Given the description of an element on the screen output the (x, y) to click on. 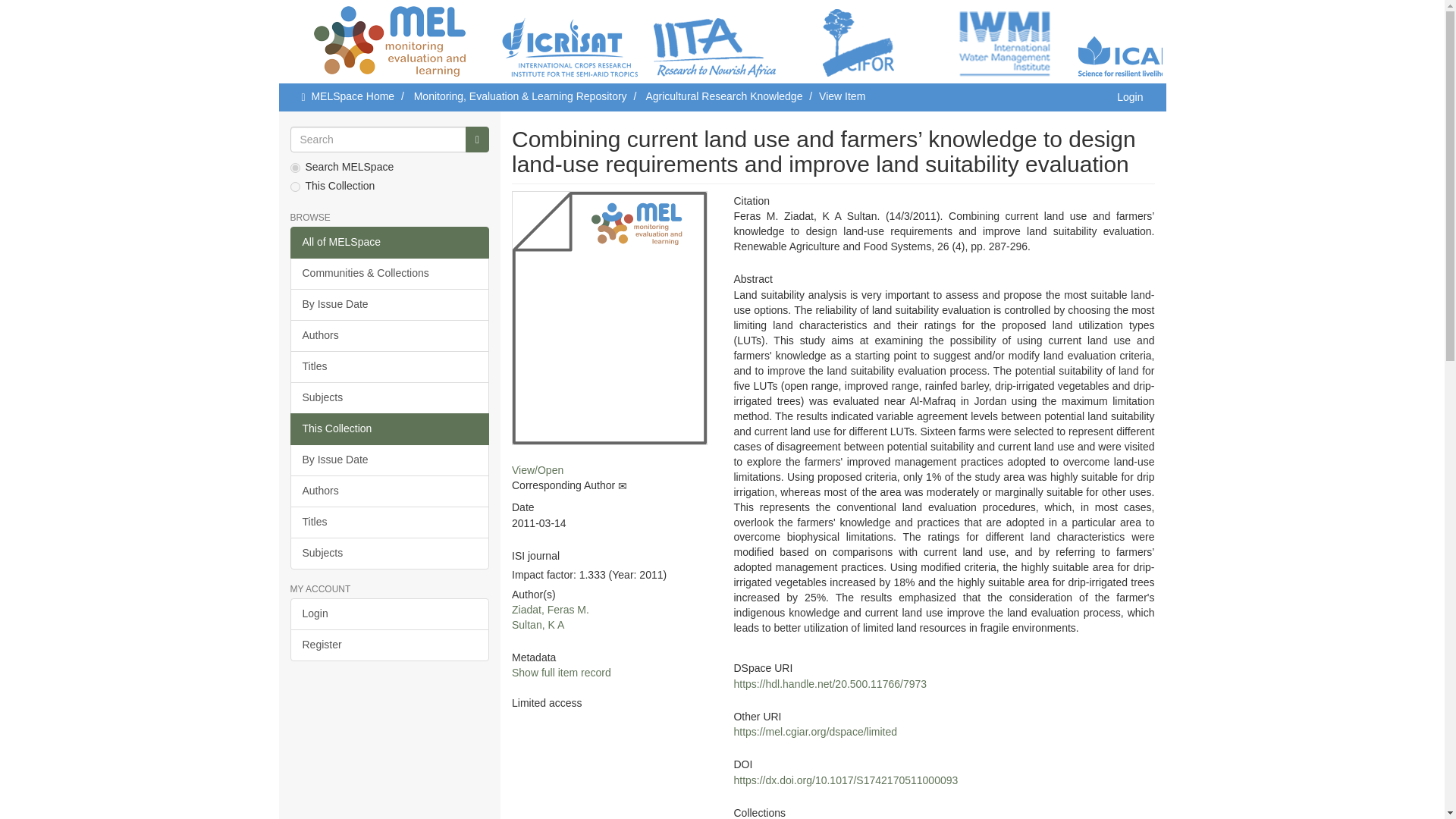
Subjects (389, 398)
Authors (389, 336)
Titles (389, 367)
All of MELSpace (389, 242)
Titles (389, 522)
By Issue Date (389, 305)
This Collection (389, 429)
Subjects (389, 553)
Sultan, K A (538, 624)
By Issue Date (389, 459)
Ziadat, Feras M. (550, 609)
Show full item record (561, 672)
Authors (389, 490)
Go (477, 139)
MELSpace Home (352, 96)
